Given the description of an element on the screen output the (x, y) to click on. 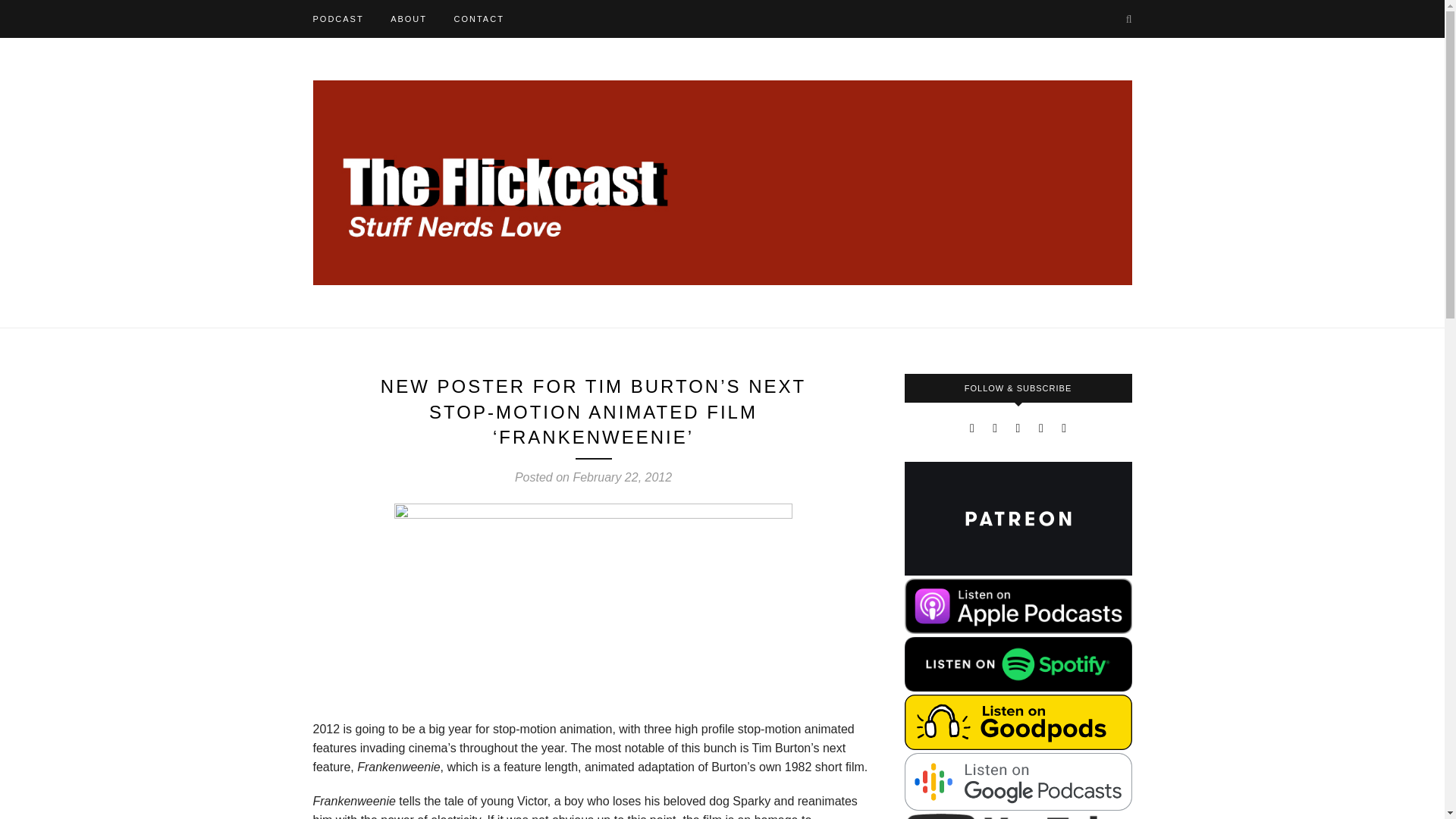
PODCAST (337, 18)
CONTACT (477, 18)
ABOUT (408, 18)
FrankenweeniePosterSmall (593, 609)
